Given the description of an element on the screen output the (x, y) to click on. 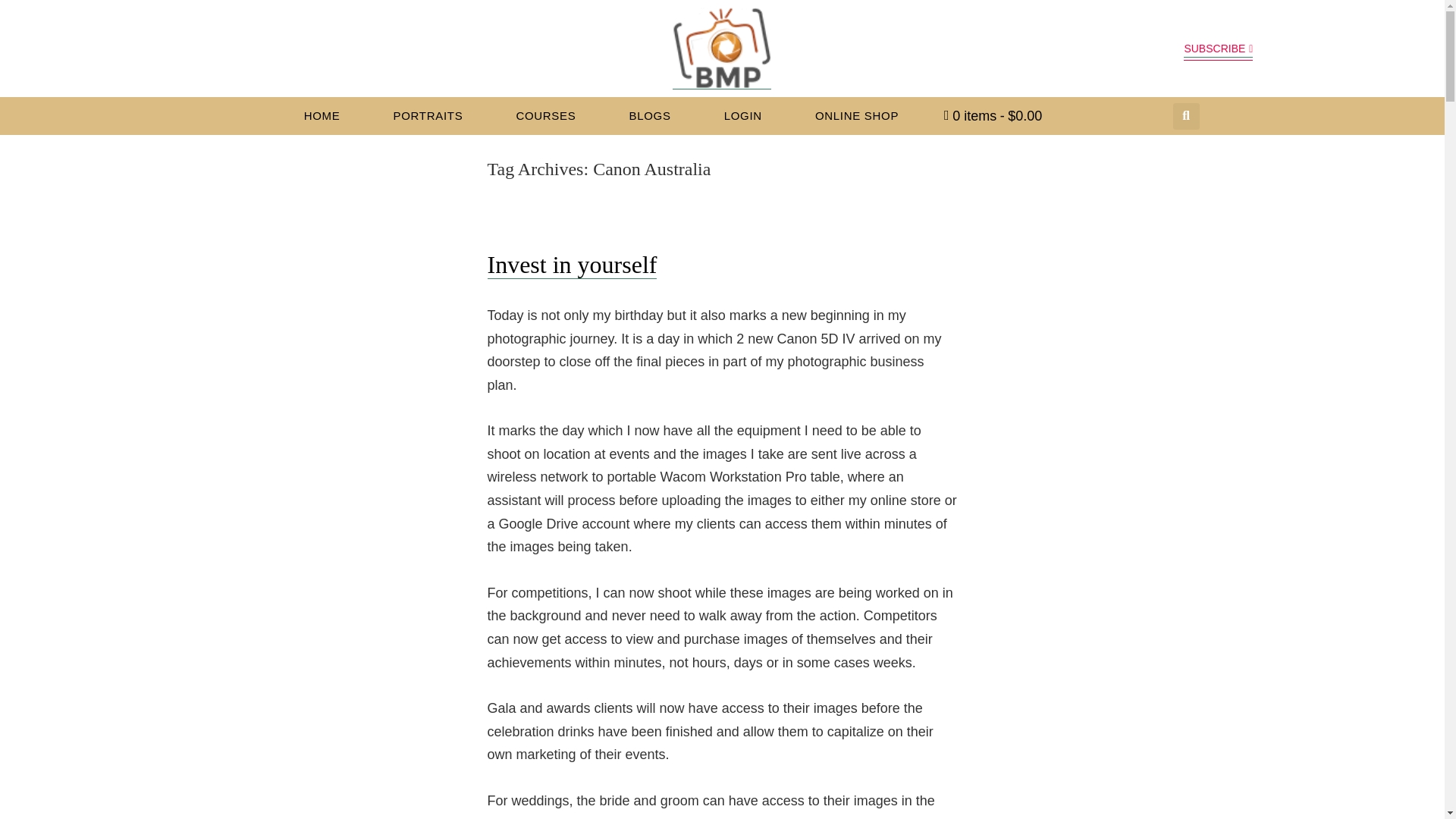
Start shopping (992, 115)
BLOGS (650, 115)
ONLINE SHOP (856, 115)
SUBSCRIBE (1217, 49)
LOGIN (742, 115)
COURSES (545, 115)
Invest in yourself (571, 264)
PORTRAITS (428, 115)
HOME (321, 115)
